Given the description of an element on the screen output the (x, y) to click on. 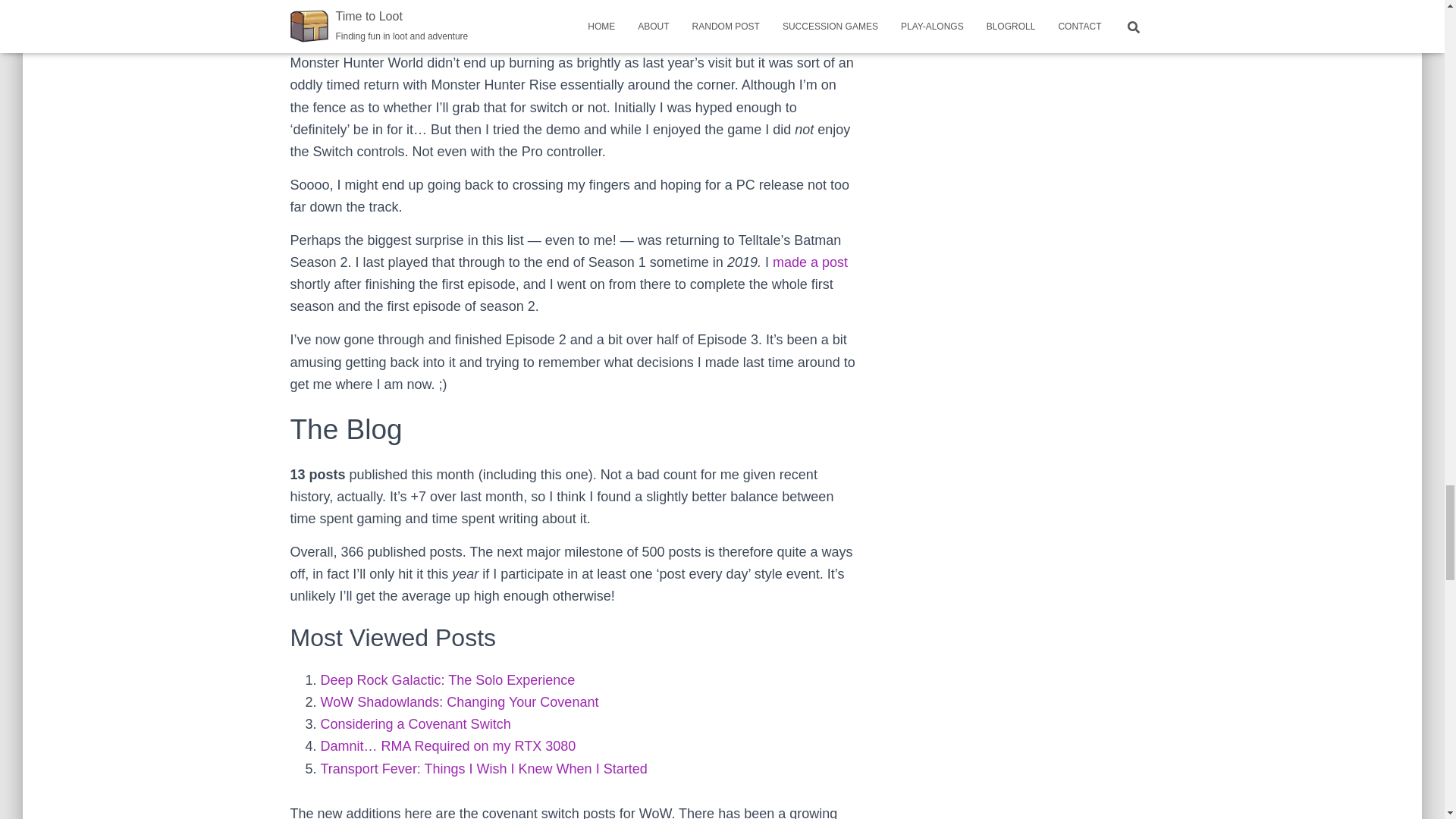
Deep Rock Galactic: The Solo Experience (447, 679)
WoW Shadowlands: Changing Your Covenant (459, 702)
Considering a Covenant Switch (415, 724)
Transport Fever: Things I Wish I Knew When I Started (483, 768)
made a post (810, 262)
